Given the description of an element on the screen output the (x, y) to click on. 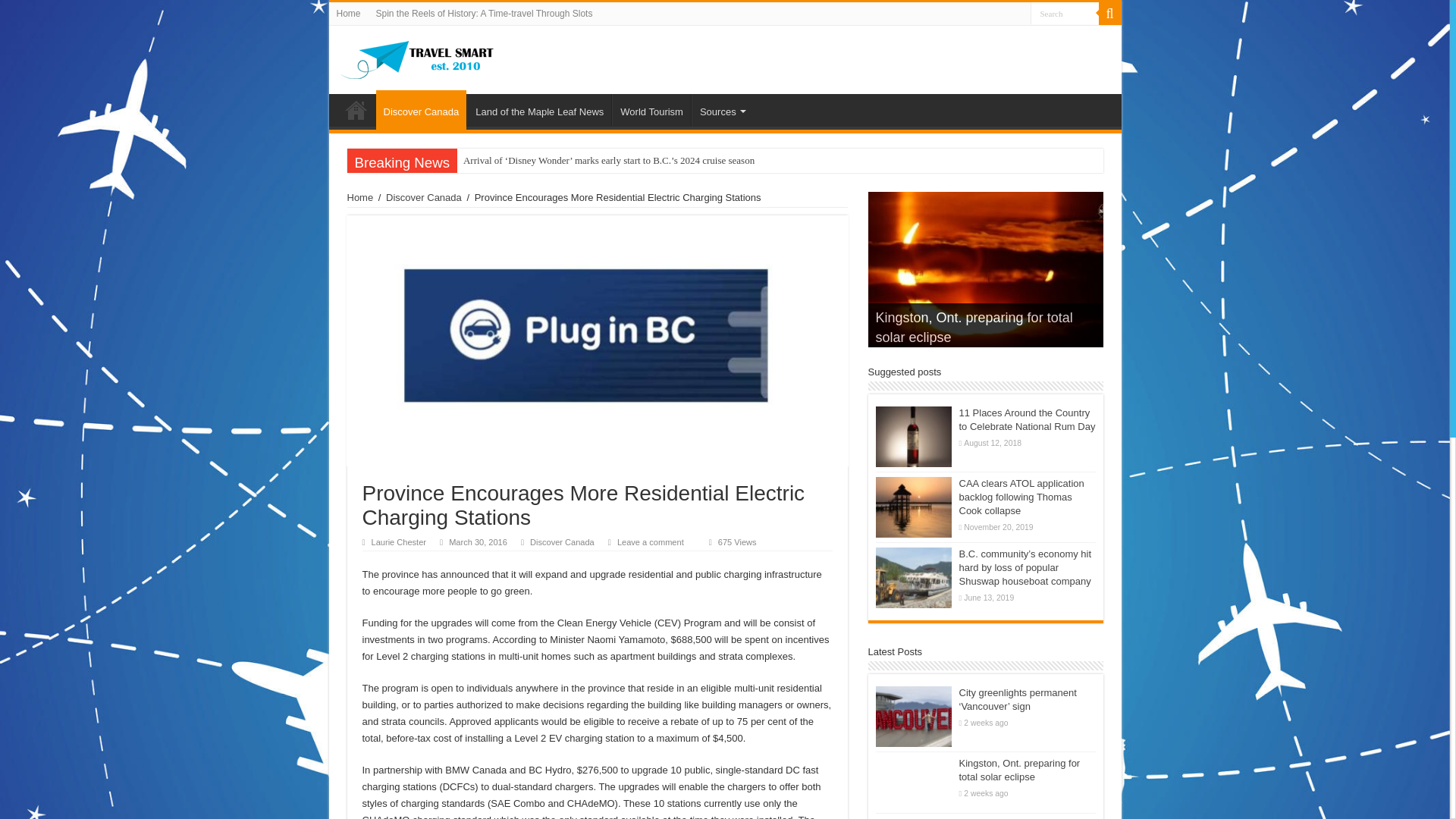
Discover Canada (561, 542)
Land of the Maple Leaf News (539, 110)
Home (348, 13)
World Tourism (650, 110)
Discover Canada (423, 197)
Sources (721, 110)
Search (1063, 13)
Search (1063, 13)
Laurie Chester (398, 542)
Search (1109, 13)
Home (360, 197)
Discover Canada (421, 109)
Search (1063, 13)
Travelsmart (417, 58)
Spin the Reels of History: A Time-travel Through Slots (483, 13)
